Given the description of an element on the screen output the (x, y) to click on. 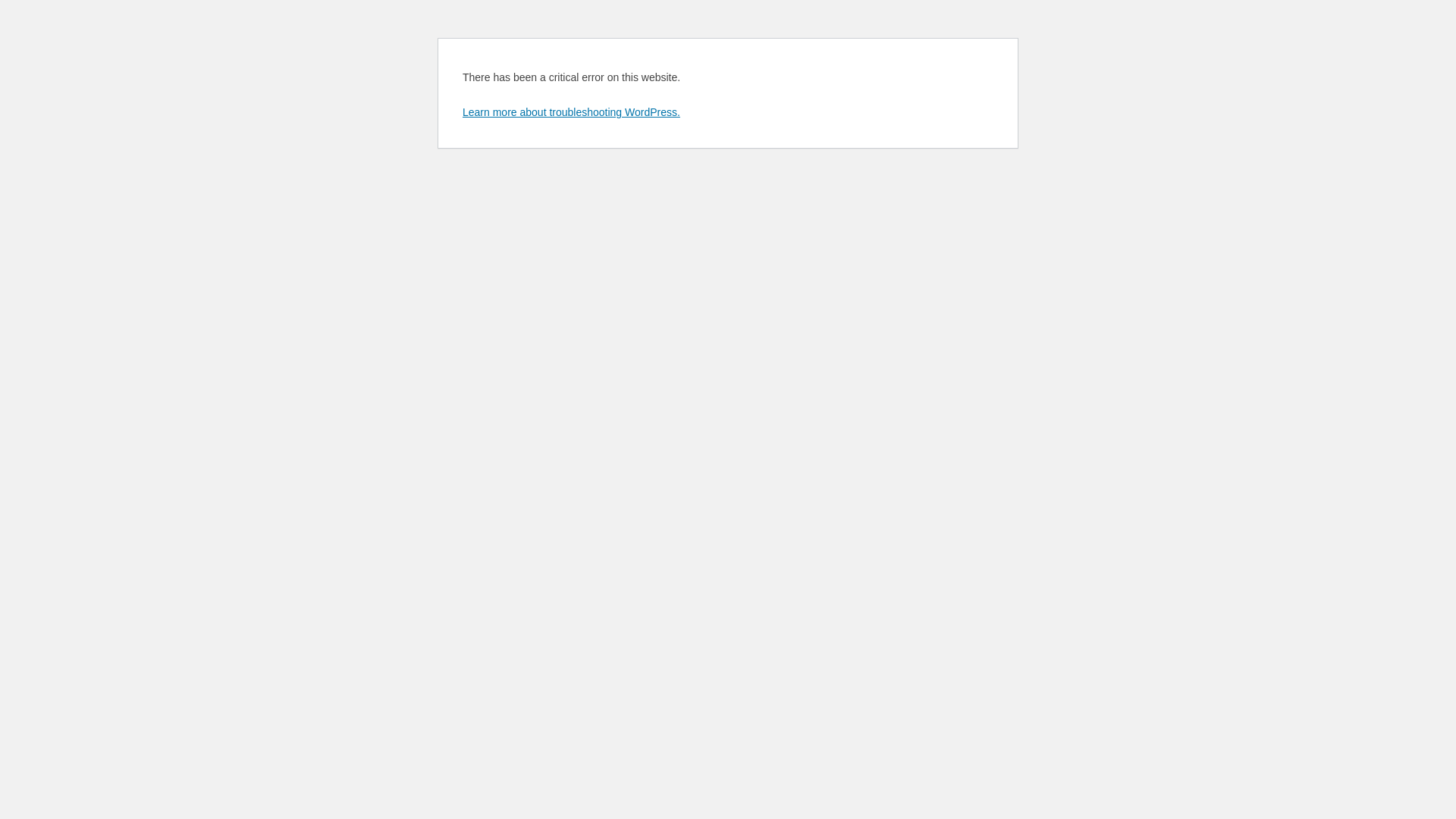
Learn more about troubleshooting WordPress. Element type: text (571, 112)
